Given the description of an element on the screen output the (x, y) to click on. 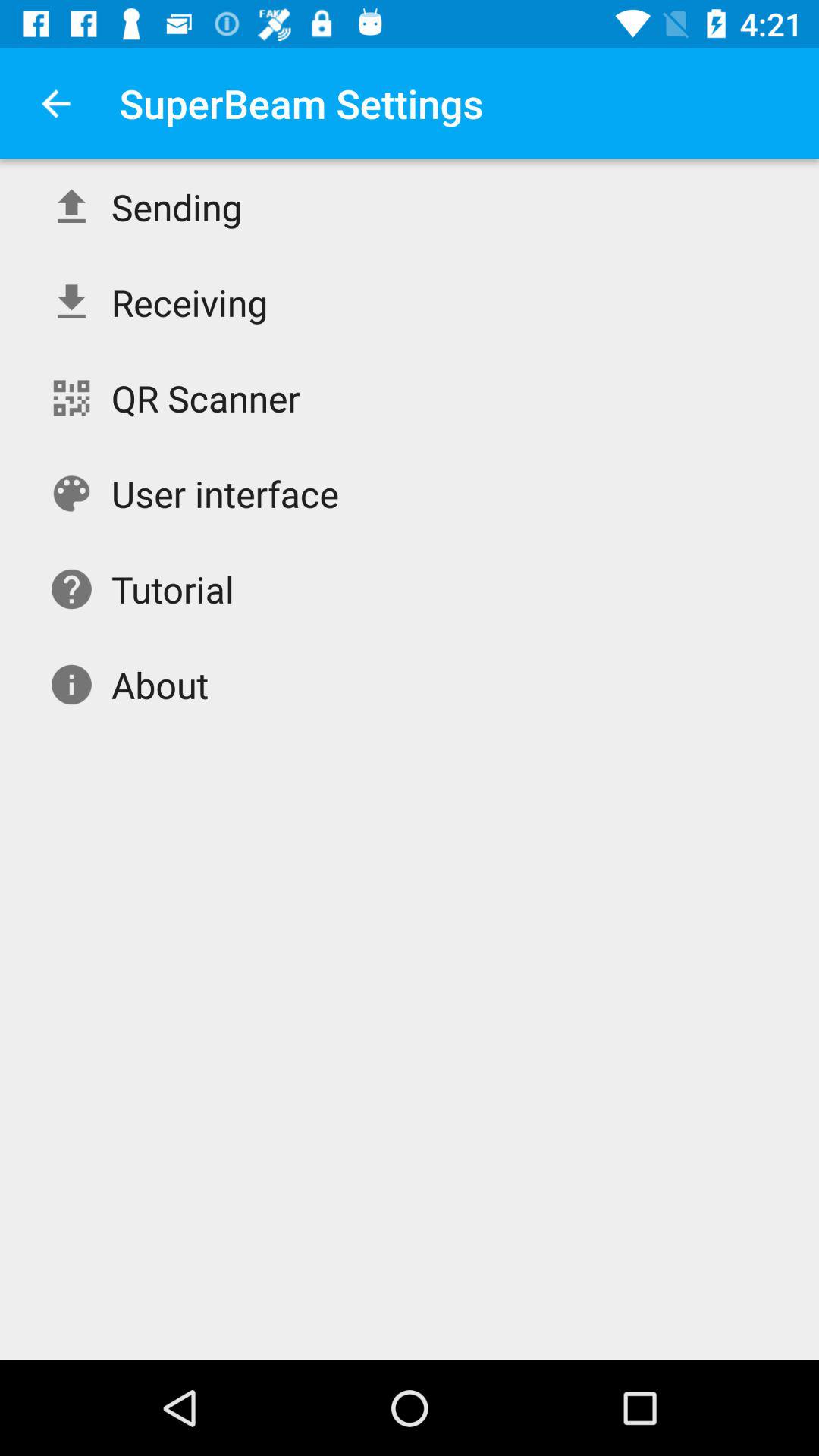
select the icon below the sending (189, 302)
